Given the description of an element on the screen output the (x, y) to click on. 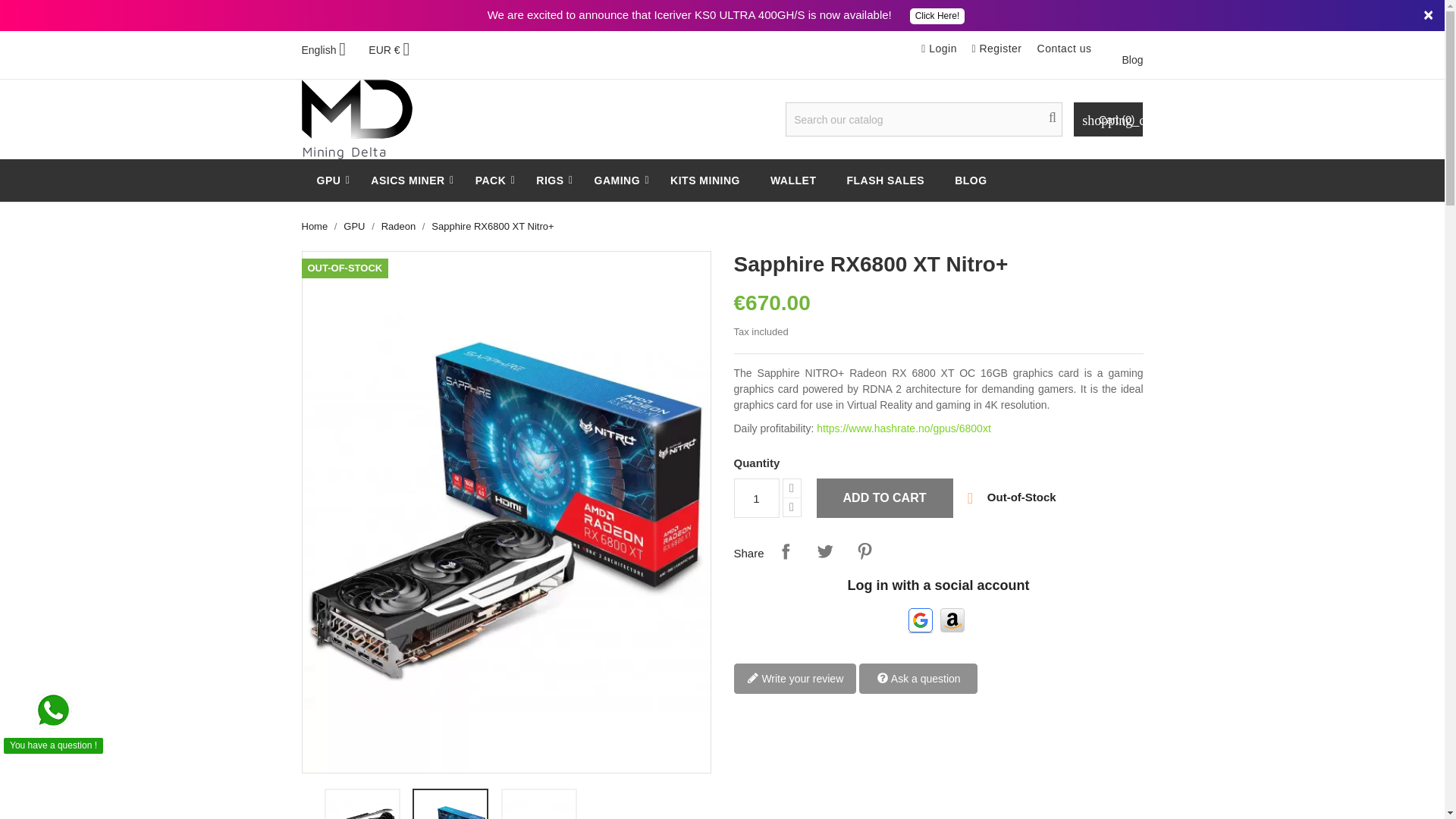
ASICS MINER (407, 179)
Contact us (1064, 48)
New account registration (995, 48)
Register (995, 48)
GPU (328, 179)
Log in to your customer account (938, 48)
1 (755, 497)
Click Here! (937, 16)
Login (938, 48)
Mining Delta (356, 118)
Share (785, 551)
Tweet (824, 551)
Blog (1131, 60)
Blog (1131, 60)
